Given the description of an element on the screen output the (x, y) to click on. 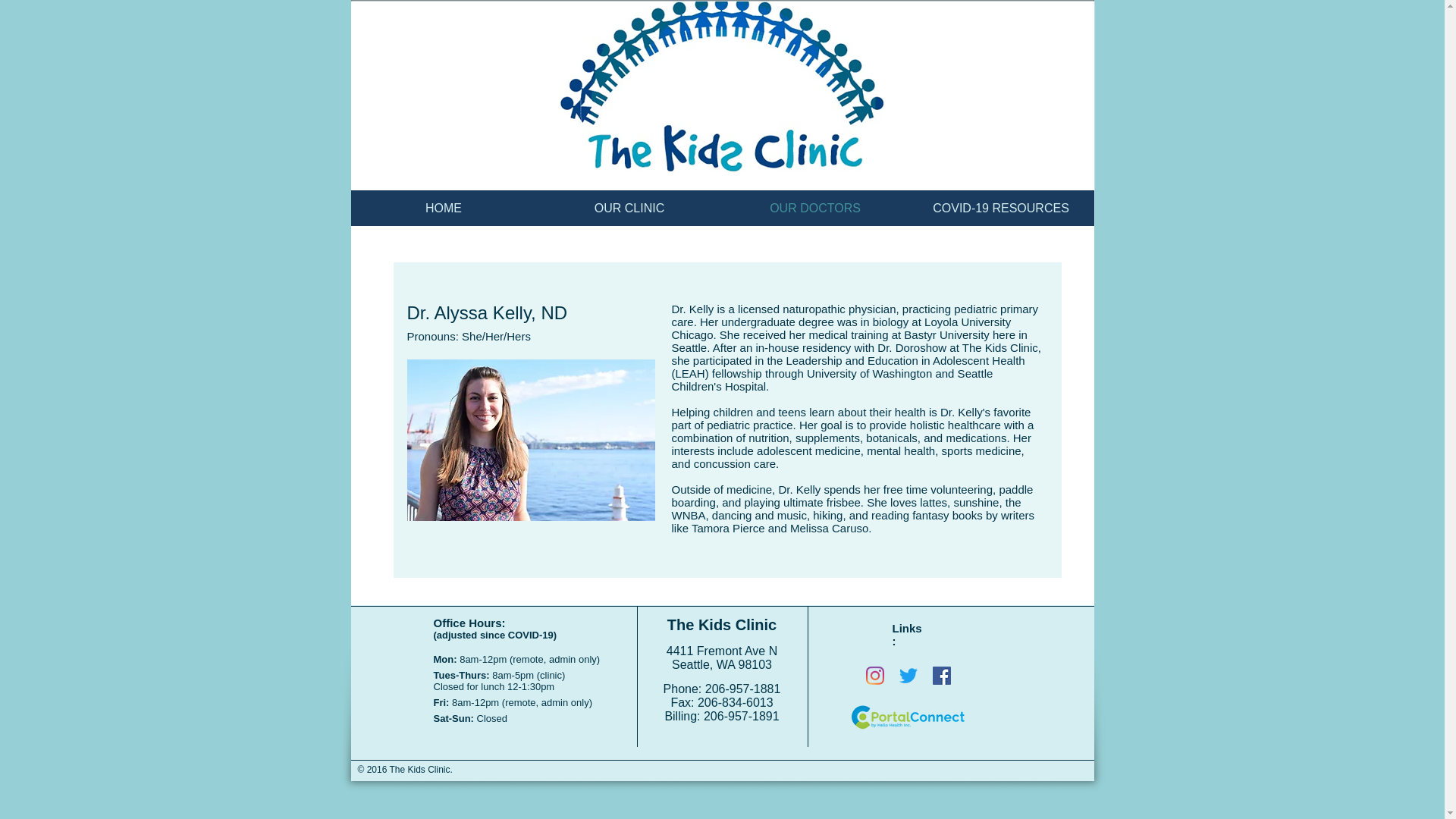
COVID-19 RESOURCES (1001, 208)
OUR CLINIC (629, 208)
OUR DOCTORS (814, 208)
HOME (442, 208)
